Given the description of an element on the screen output the (x, y) to click on. 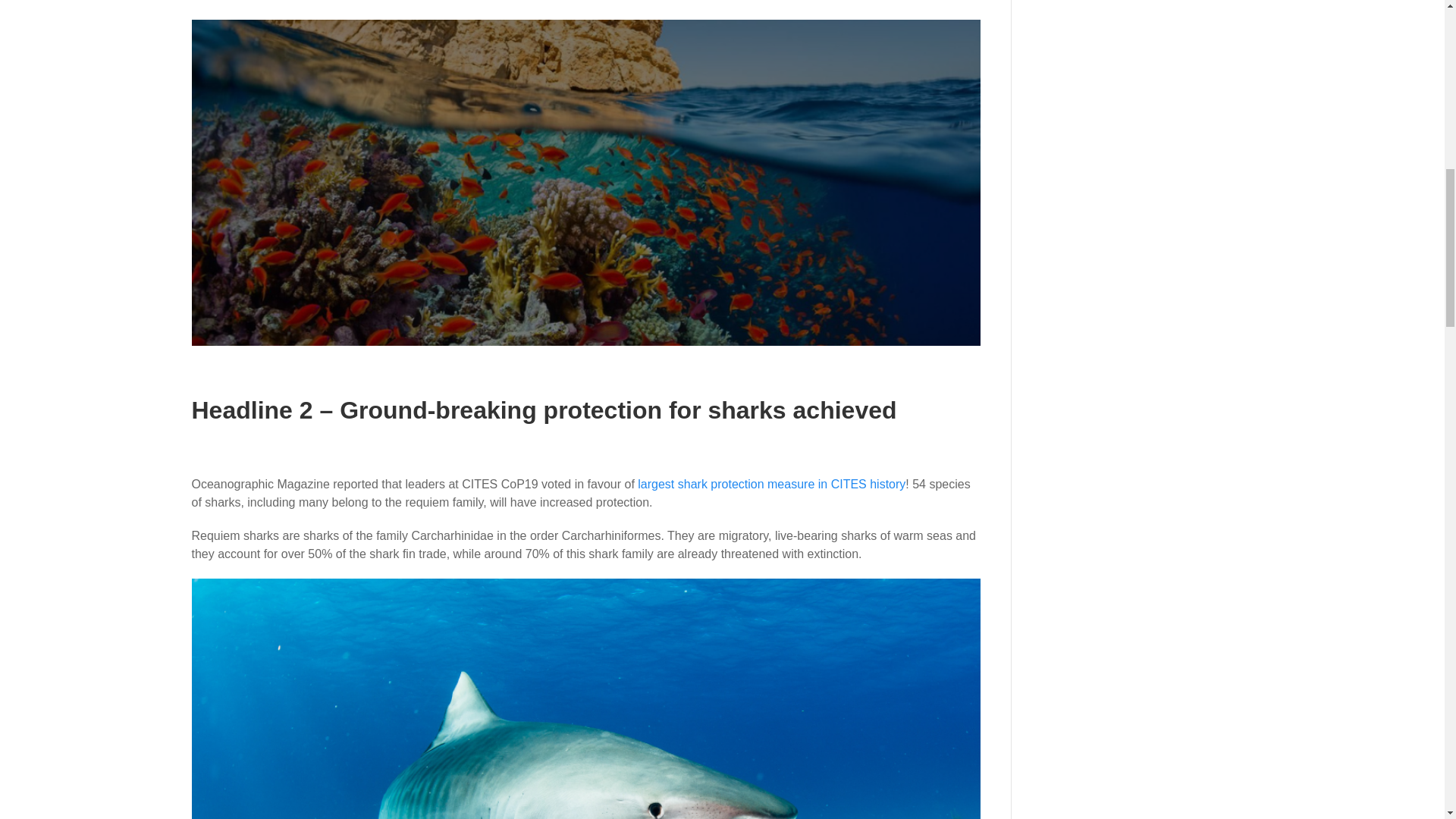
largest shark protection measure in CITES history (771, 483)
